Given the description of an element on the screen output the (x, y) to click on. 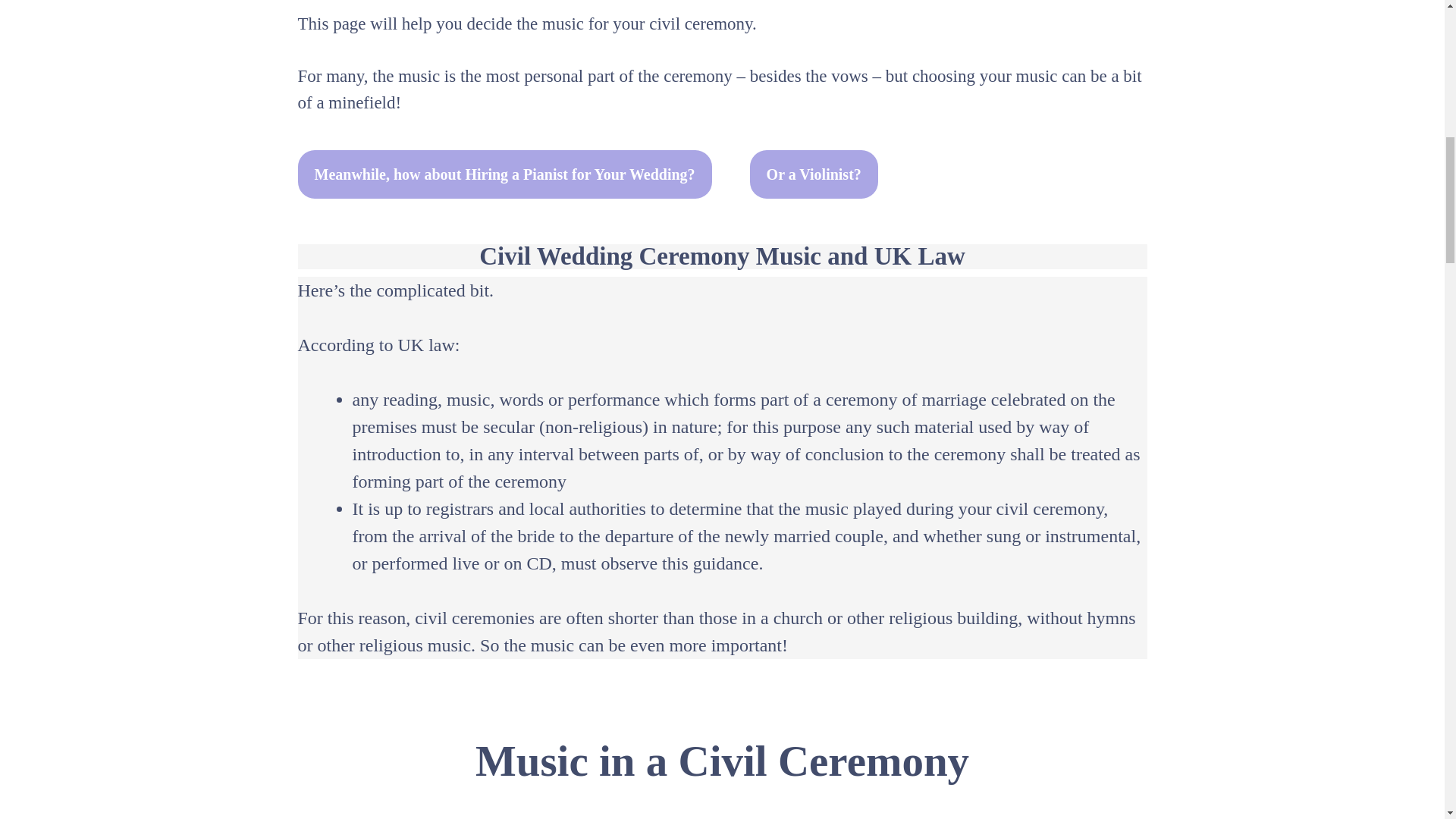
Scroll back to top (1406, 720)
